Given the description of an element on the screen output the (x, y) to click on. 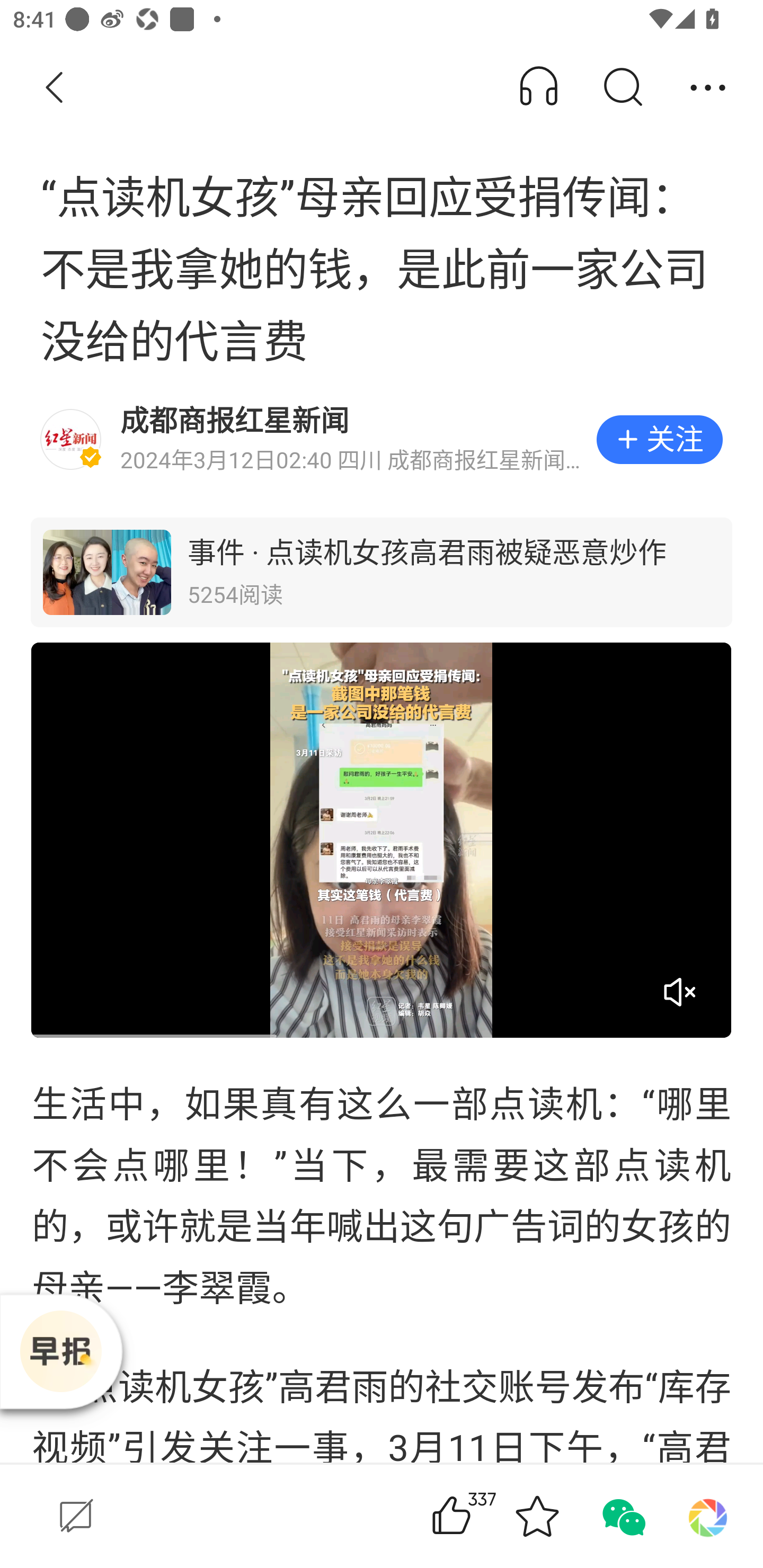
搜索  (622, 87)
分享  (707, 87)
 返回 (54, 87)
成都商报红星新闻 2024年3月12日02:40 四川 成都商报红星新闻官方账号  关注 (381, 439)
 关注 (659, 439)
事件 ·  点读机女孩高君雨被疑恶意炒作 5254阅读 (381, 572)
00:15 (381, 839)
音量开关 (679, 991)
播放器 (60, 1351)
发表评论  发表评论 (199, 1516)
337赞 (476, 1516)
收藏  (536, 1516)
分享到微信  (622, 1516)
分享到朋友圈 (707, 1516)
